Given the description of an element on the screen output the (x, y) to click on. 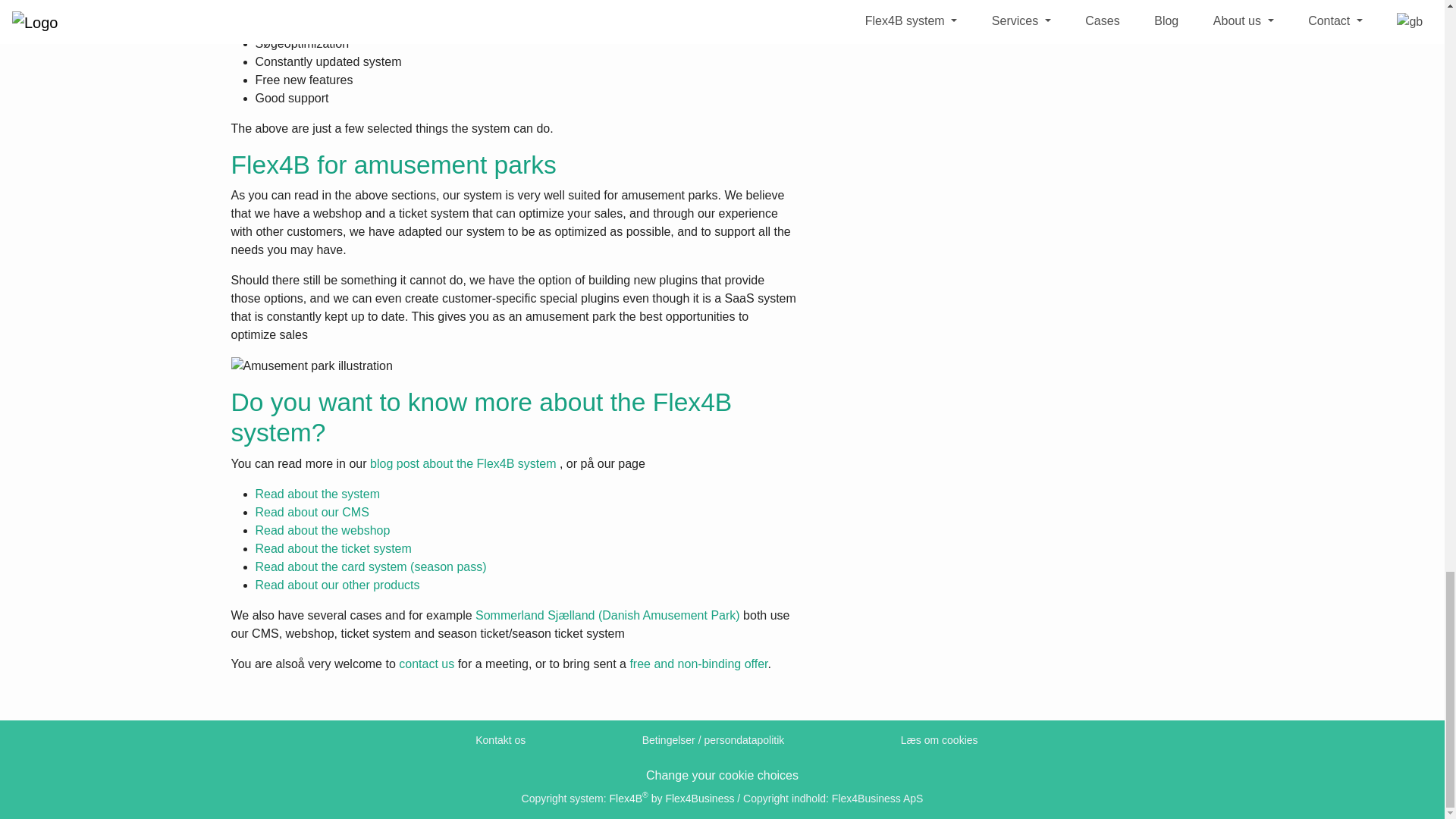
blog post about the Flex4B system (462, 463)
Read about the webshop (322, 530)
Read about the ticket system (332, 548)
Read about our CMS (311, 512)
Read about the system (317, 493)
